Given the description of an element on the screen output the (x, y) to click on. 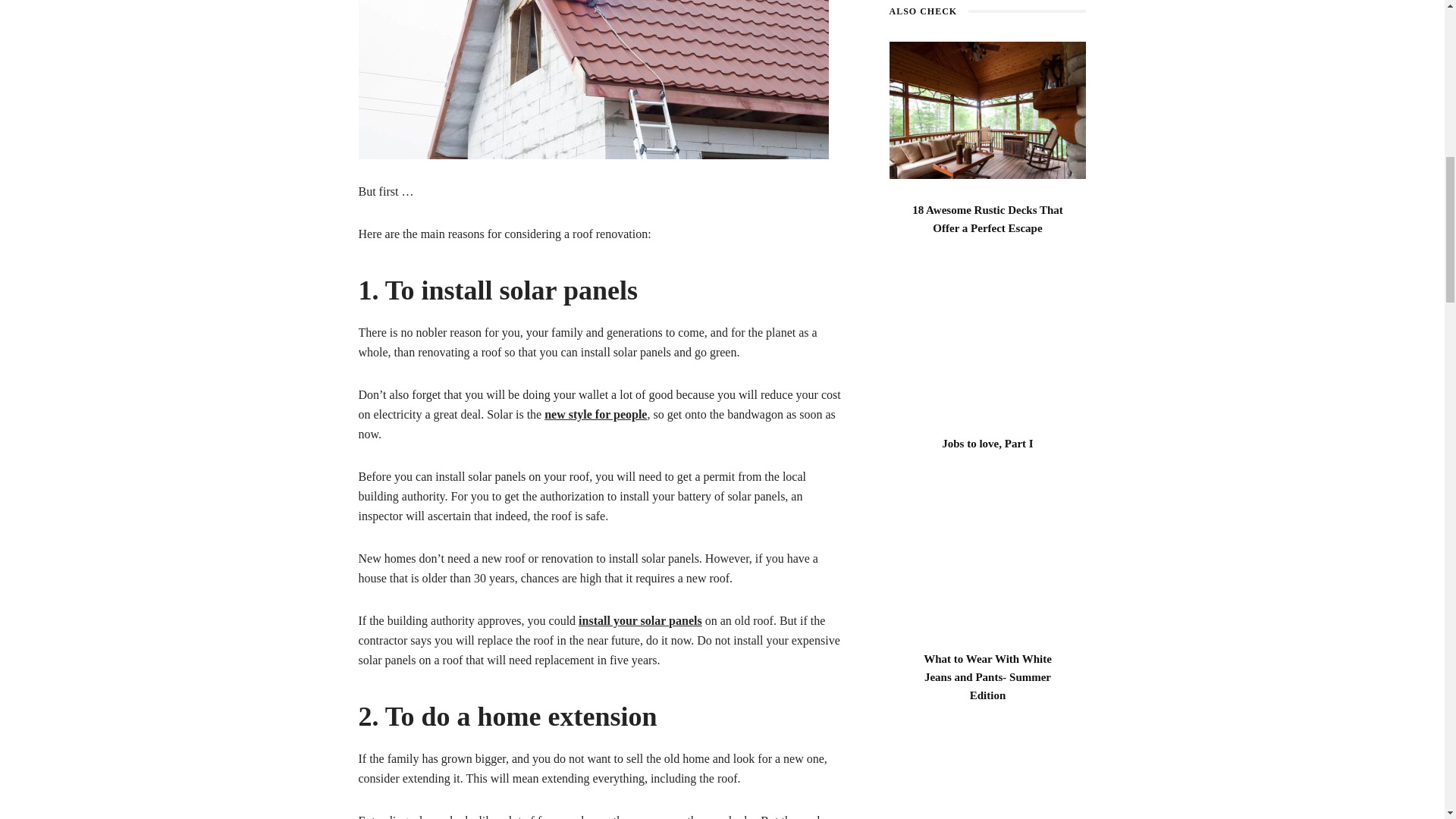
Home Roofing Tips (593, 79)
install your solar panels (639, 620)
new style for people (595, 413)
